Given the description of an element on the screen output the (x, y) to click on. 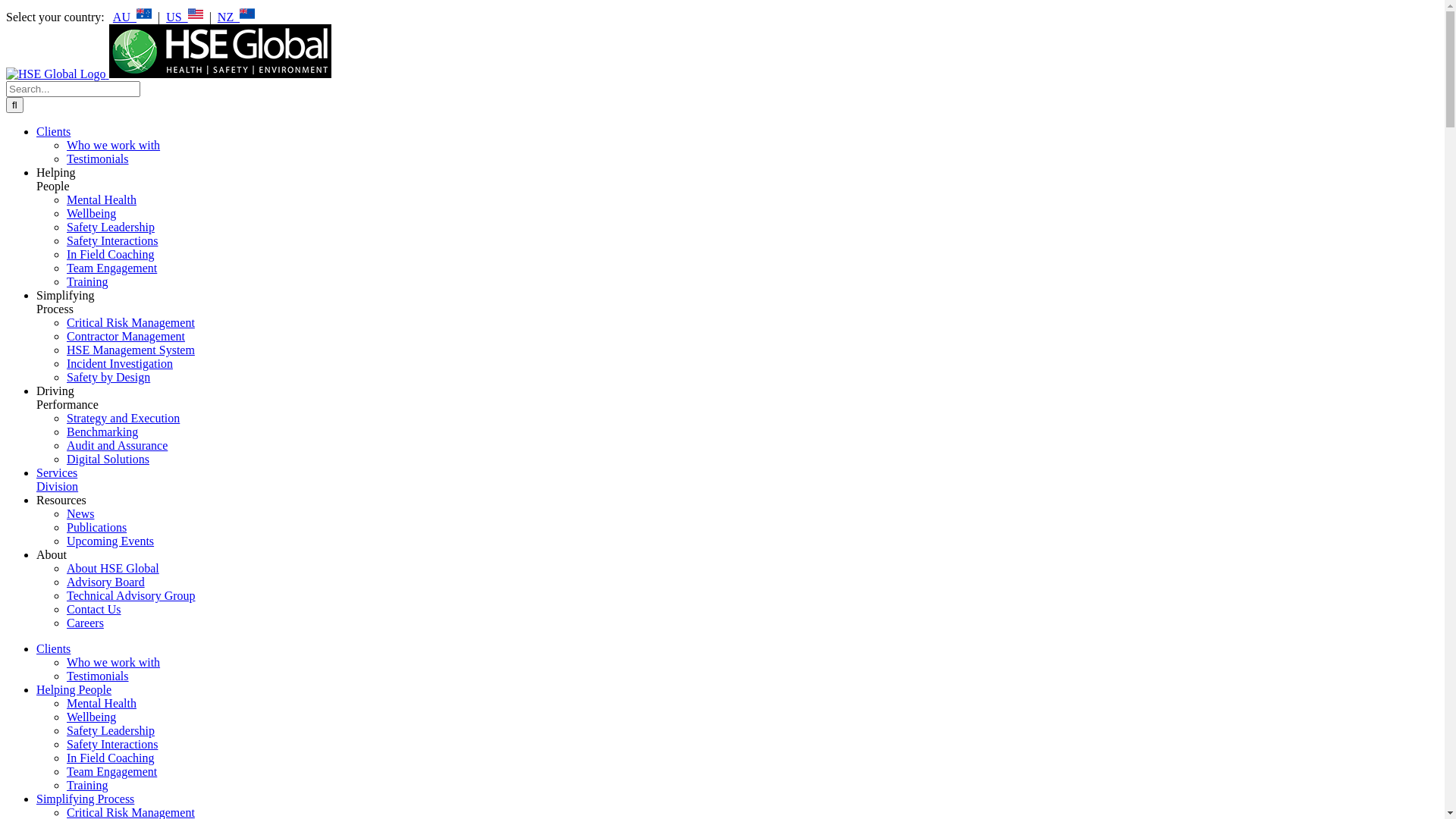
Resources Element type: text (61, 499)
Simplifying Process Element type: text (85, 798)
HSE Management System Element type: text (130, 349)
Audit and Assurance Element type: text (116, 445)
Publications Element type: text (96, 526)
Helping
People Element type: text (55, 179)
Simplifying
Process Element type: text (65, 301)
Driving
Performance Element type: text (67, 397)
AU Element type: hover (143, 13)
Safety Interactions Element type: text (111, 240)
Upcoming Events Element type: text (109, 540)
Training Element type: text (87, 784)
In Field Coaching Element type: text (110, 757)
Strategy and Execution Element type: text (122, 417)
Who we work with Element type: text (113, 144)
Incident Investigation Element type: text (119, 363)
Skip to content Element type: text (5, 5)
Who we work with Element type: text (113, 661)
Advisory Board Element type: text (105, 581)
Technical Advisory Group Element type: text (130, 595)
Safety Leadership Element type: text (110, 226)
Contact Us Element type: text (93, 608)
Benchmarking Element type: text (102, 431)
Training Element type: text (87, 281)
US Element type: hover (195, 13)
Contractor Management Element type: text (125, 335)
Clients Element type: text (53, 131)
NZ   Element type: text (235, 16)
About Element type: text (51, 554)
Team Engagement Element type: text (111, 771)
Critical Risk Management Element type: text (130, 322)
Careers Element type: text (84, 622)
Mental Health Element type: text (101, 702)
NZ Element type: hover (246, 13)
Wellbeing Element type: text (91, 213)
US   Element type: text (184, 16)
Digital Solutions Element type: text (107, 458)
Services
Division Element type: text (57, 479)
AU   Element type: text (131, 16)
Helping People Element type: text (73, 689)
Wellbeing Element type: text (91, 716)
In Field Coaching Element type: text (110, 253)
Testimonials Element type: text (97, 675)
News Element type: text (80, 513)
Clients Element type: text (53, 648)
Team Engagement Element type: text (111, 267)
Testimonials Element type: text (97, 158)
Safety by Design Element type: text (108, 376)
About HSE Global Element type: text (112, 567)
Mental Health Element type: text (101, 199)
Safety Interactions Element type: text (111, 743)
Safety Leadership Element type: text (110, 730)
